Given the description of an element on the screen output the (x, y) to click on. 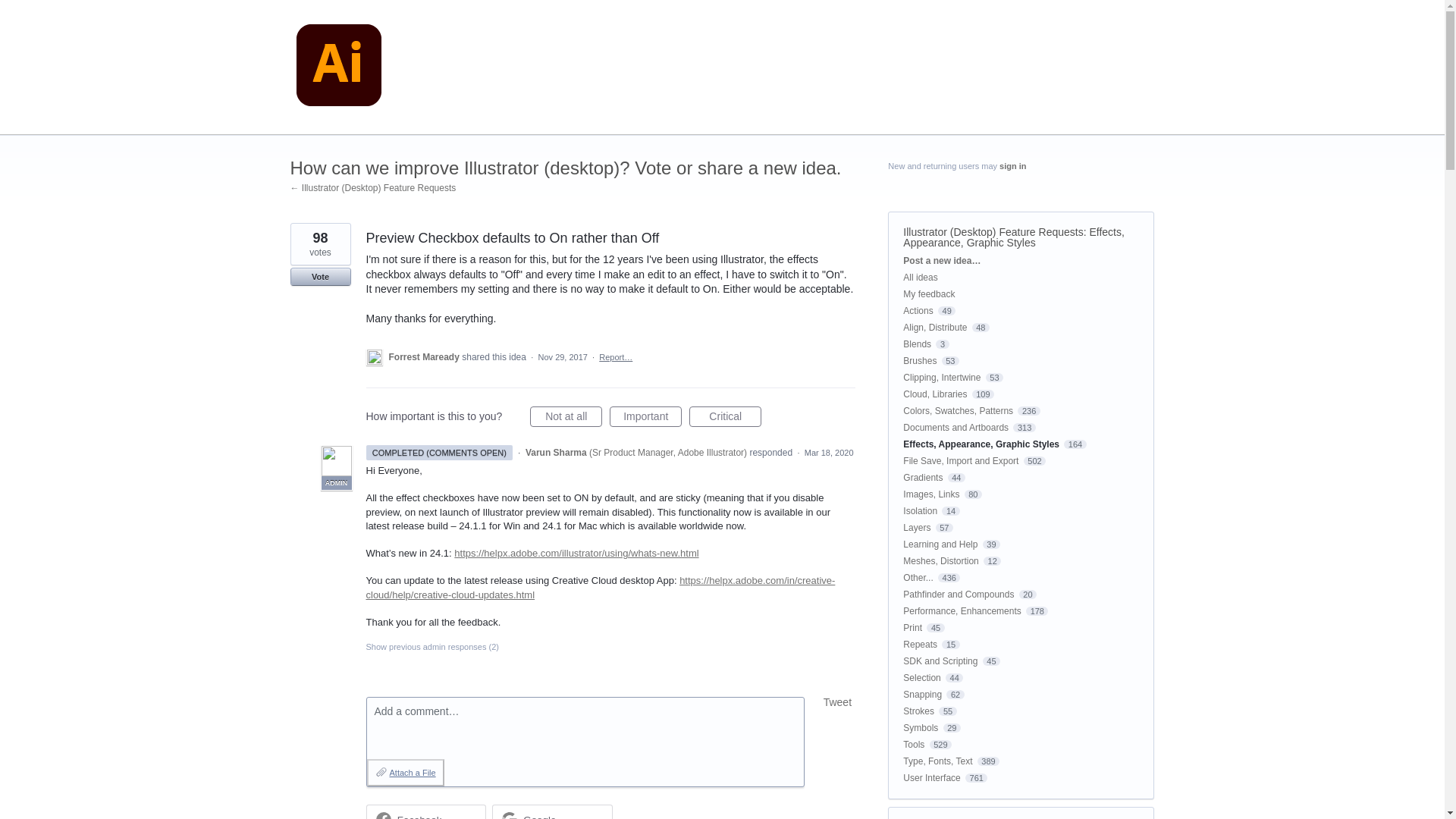
Critical (724, 416)
Google (539, 816)
Not at all (565, 416)
Vote (319, 276)
Google sign in (552, 811)
Facebook (419, 816)
Adobe Illustrator (338, 67)
Important (645, 416)
Skip to content (12, 12)
Forrest Maready (424, 357)
Facebook sign in (425, 811)
